Given the description of an element on the screen output the (x, y) to click on. 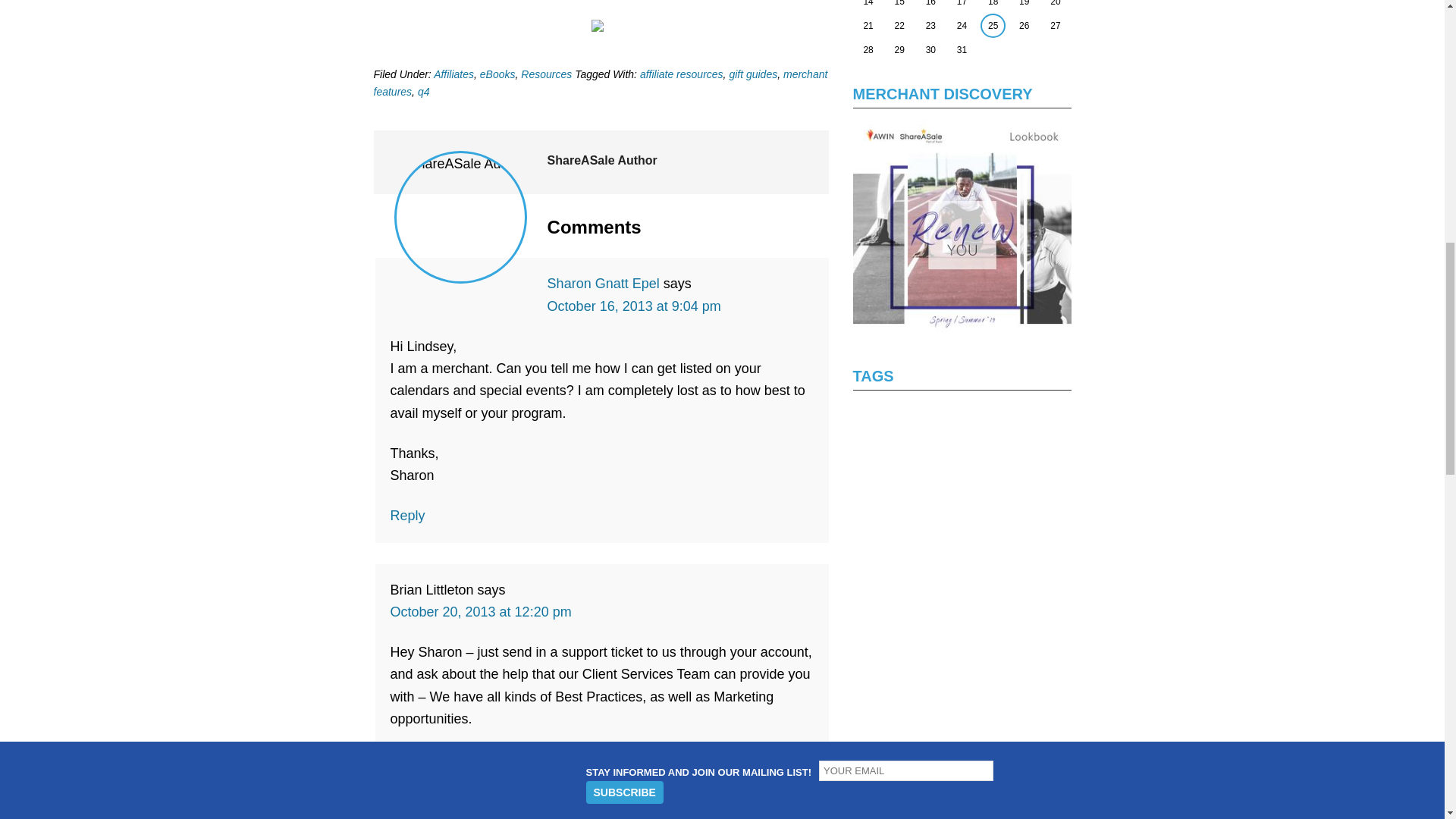
October 20, 2013 at 12:20 pm (480, 611)
Reply (407, 515)
Resources (546, 73)
affiliate resources (681, 73)
eBooks (497, 73)
Affiliates (453, 73)
October 16, 2013 at 9:04 pm (633, 305)
q4 (423, 91)
merchant features (599, 82)
Reply (407, 758)
gift guides (753, 73)
Sharon Gnatt Epel (603, 283)
